Given the description of an element on the screen output the (x, y) to click on. 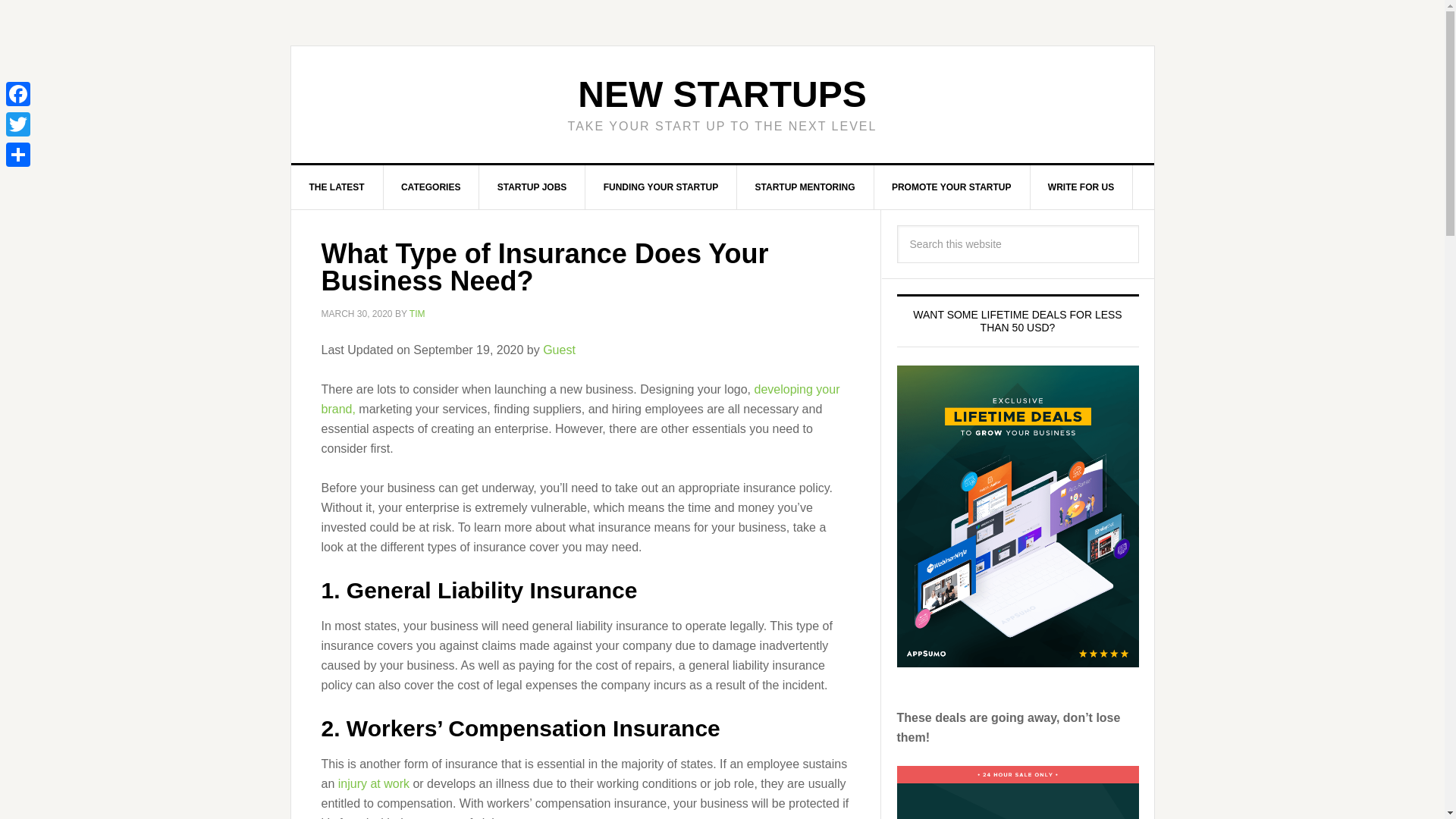
THE LATEST (337, 187)
Facebook (17, 93)
TIM (417, 313)
PROMOTE YOUR STARTUP (951, 187)
NEW STARTUPS (722, 94)
STARTUP MENTORING (805, 187)
Guest (559, 349)
injury at work (373, 782)
